Given the description of an element on the screen output the (x, y) to click on. 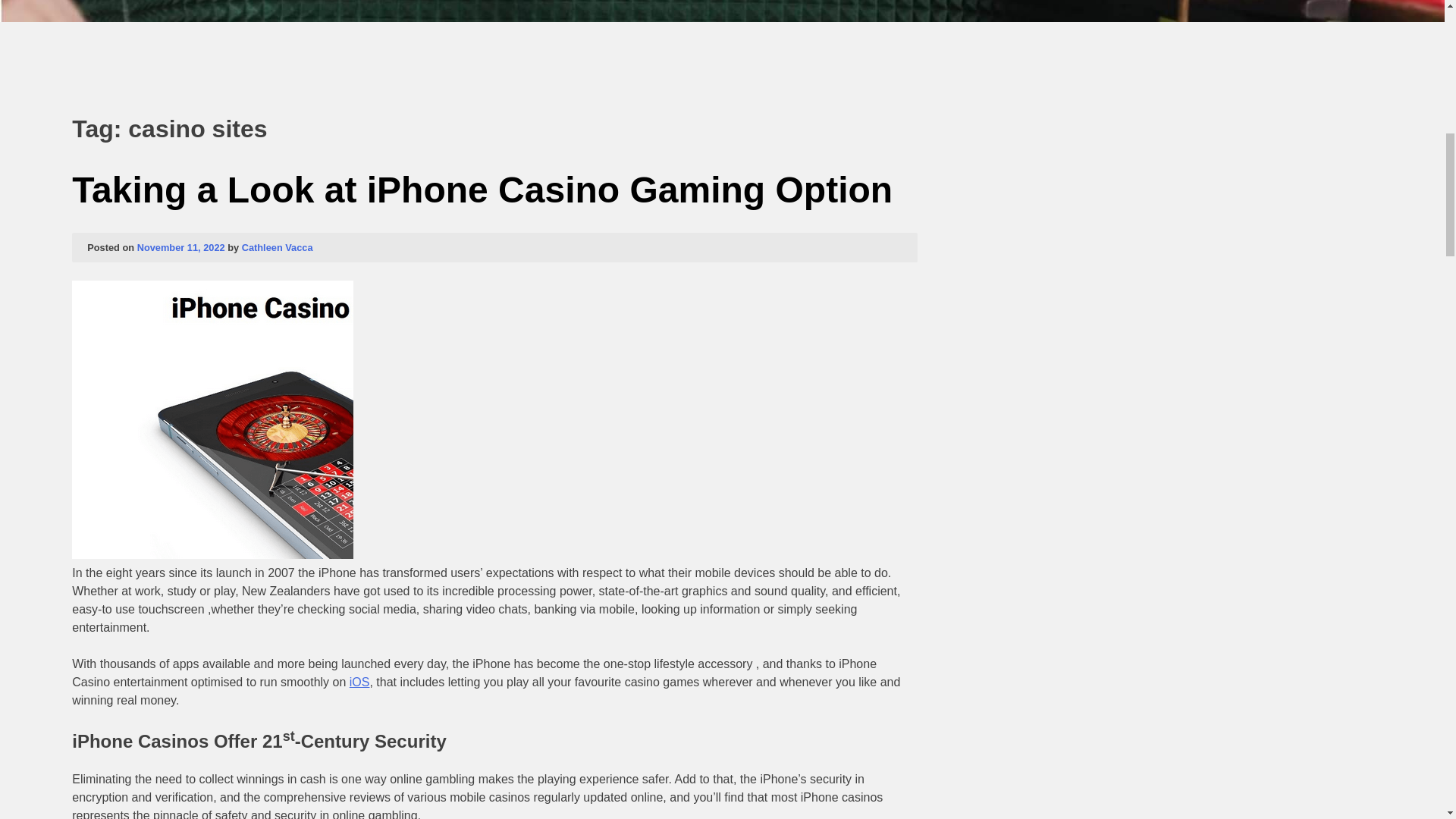
Cathleen Vacca (277, 246)
Taking a Look at iPhone Casino Gaming Option (481, 189)
November 11, 2022 (180, 246)
iOS (359, 681)
